Given the description of an element on the screen output the (x, y) to click on. 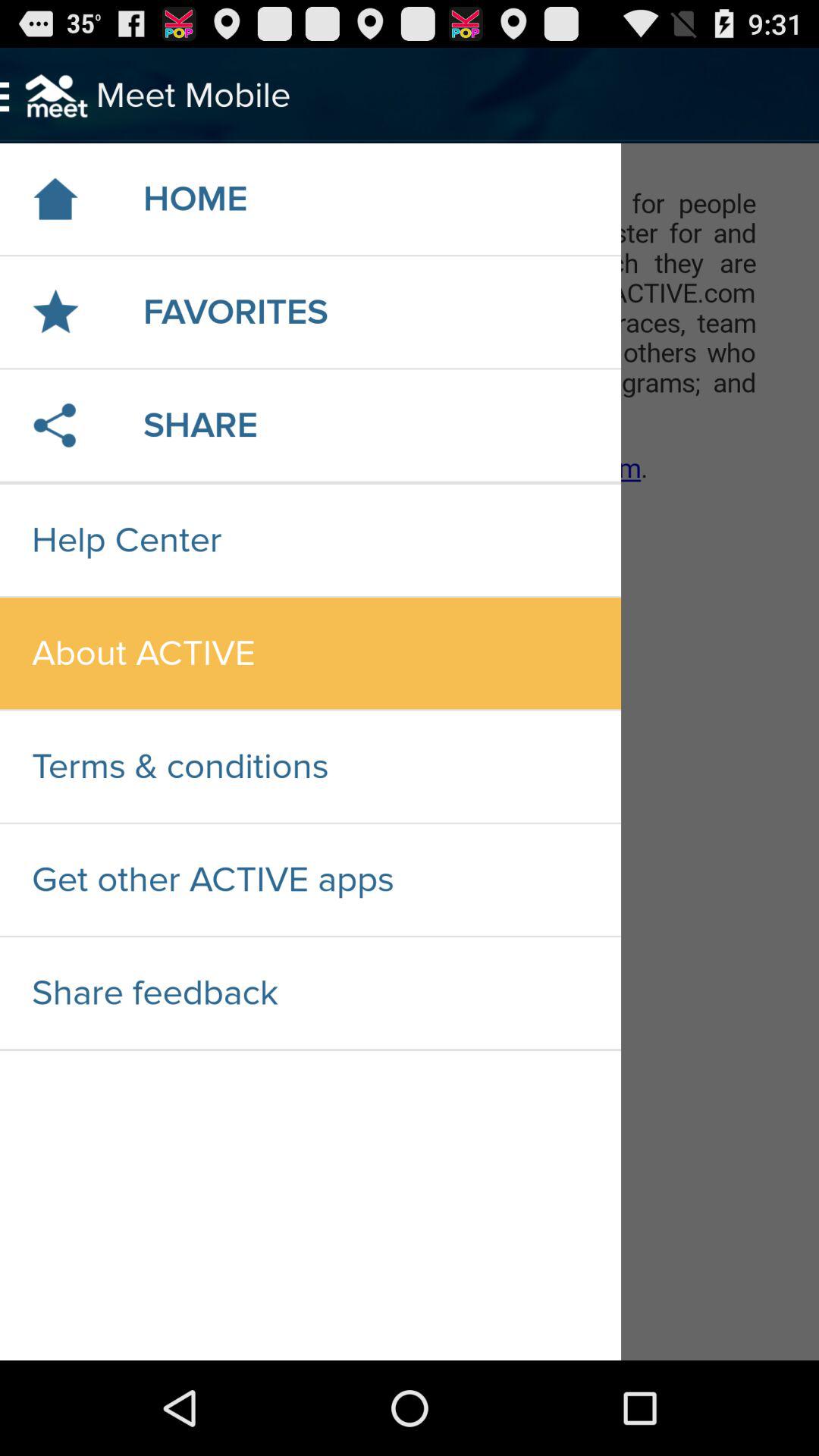
open terms & conditions (310, 766)
